Given the description of an element on the screen output the (x, y) to click on. 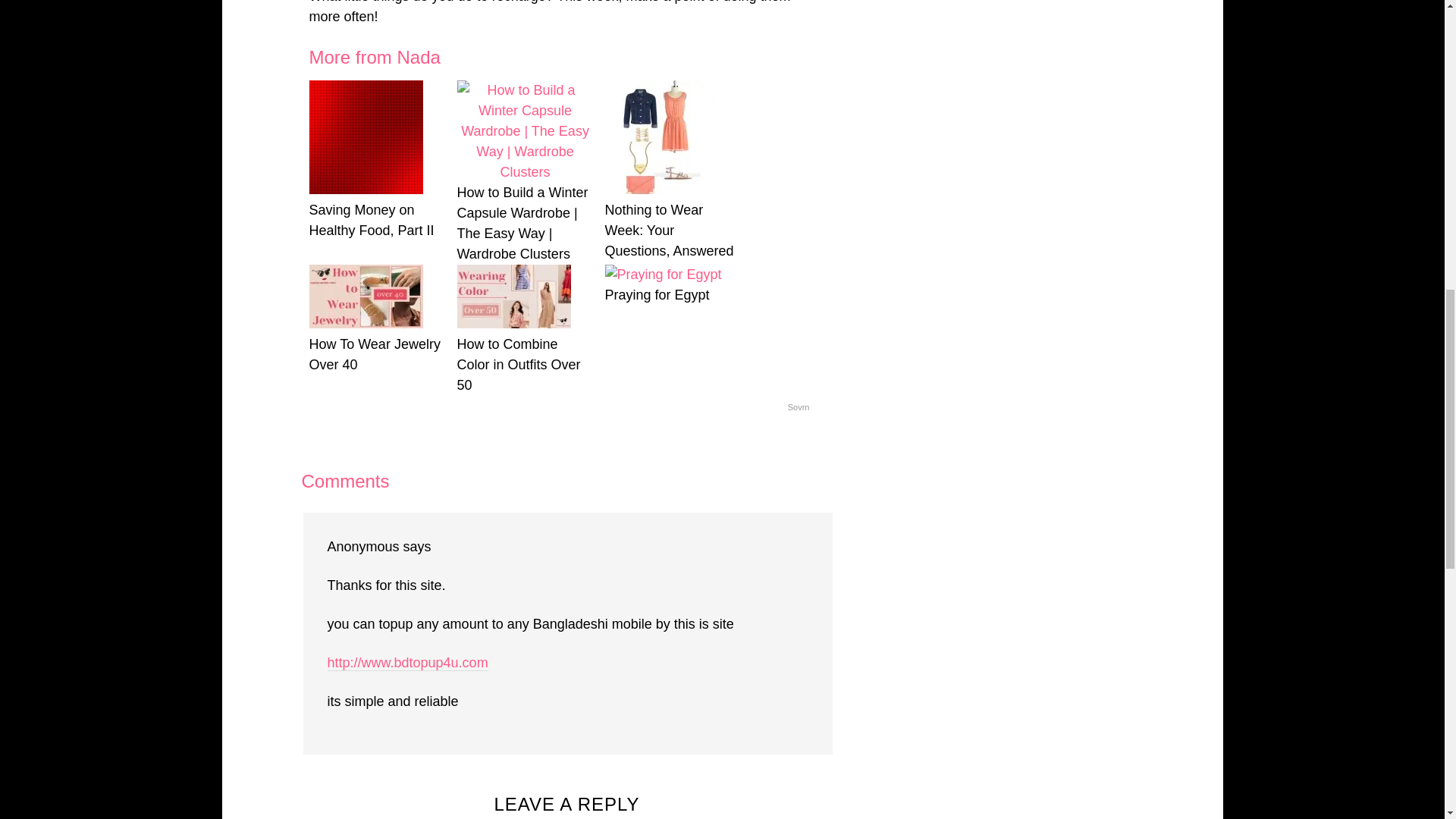
How to Combine Color in Outfits Over 50 (524, 364)
Saving Money on Healthy Food, Part II (376, 219)
Nothing to Wear Week: Your Questions, Answered (673, 230)
Sovrn (798, 407)
How To Wear Jewelry Over 40 (376, 354)
Praying for Egypt (673, 295)
